Given the description of an element on the screen output the (x, y) to click on. 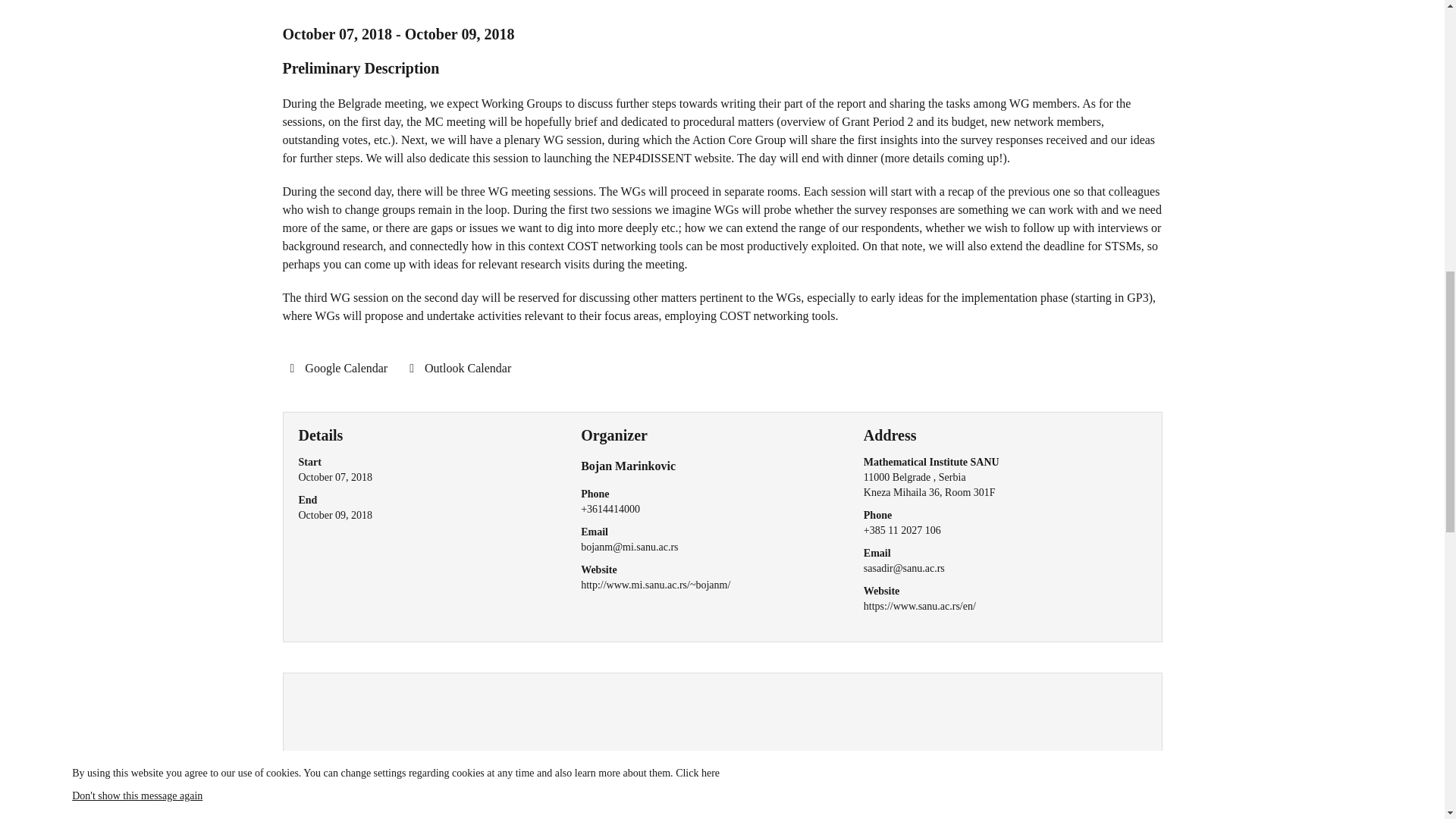
Google Calendar (338, 368)
Outlook Calendar (459, 368)
